Given the description of an element on the screen output the (x, y) to click on. 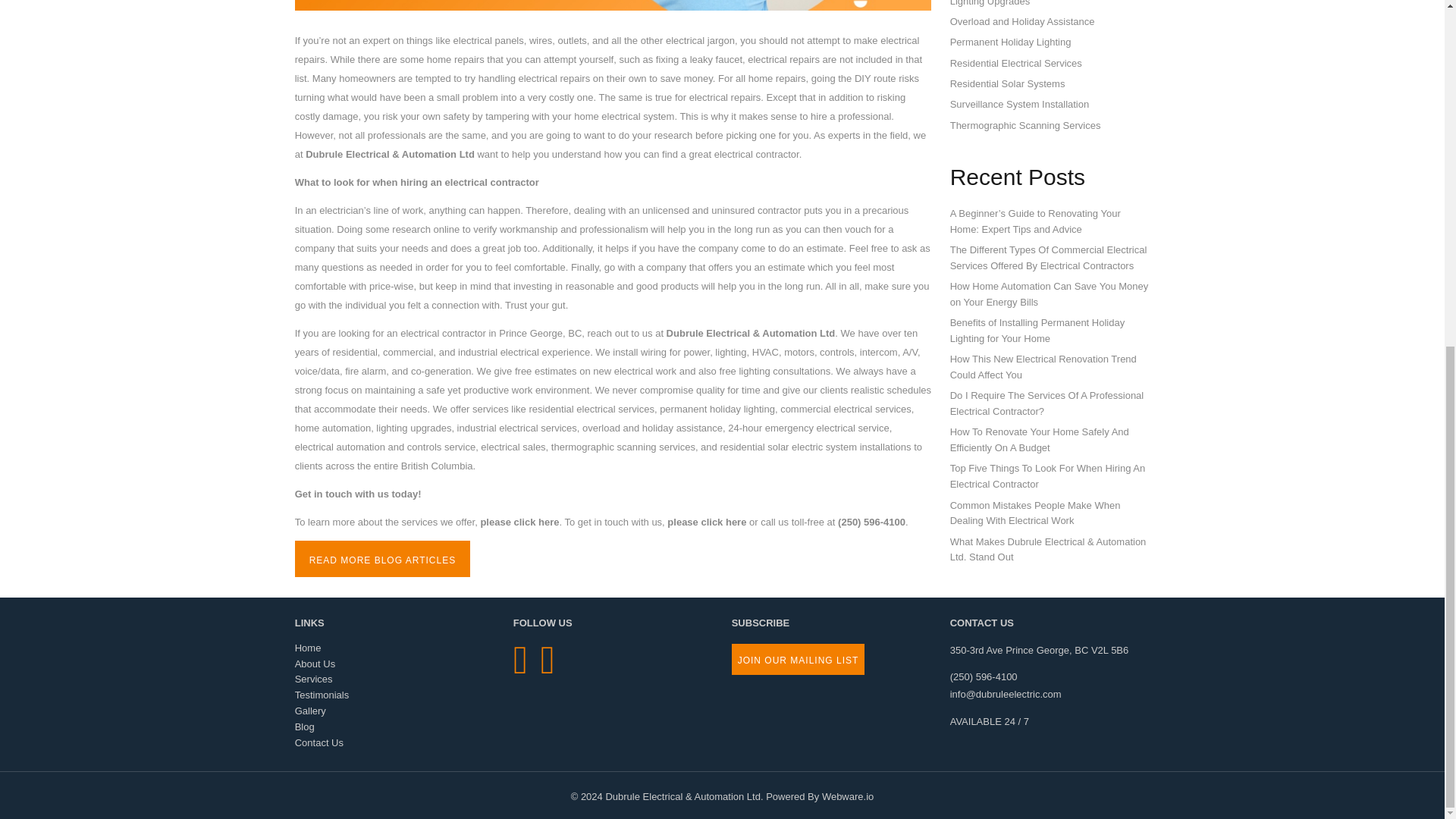
please click here (519, 521)
READ MORE BLOG ARTICLES (382, 558)
please click here (705, 521)
